Given the description of an element on the screen output the (x, y) to click on. 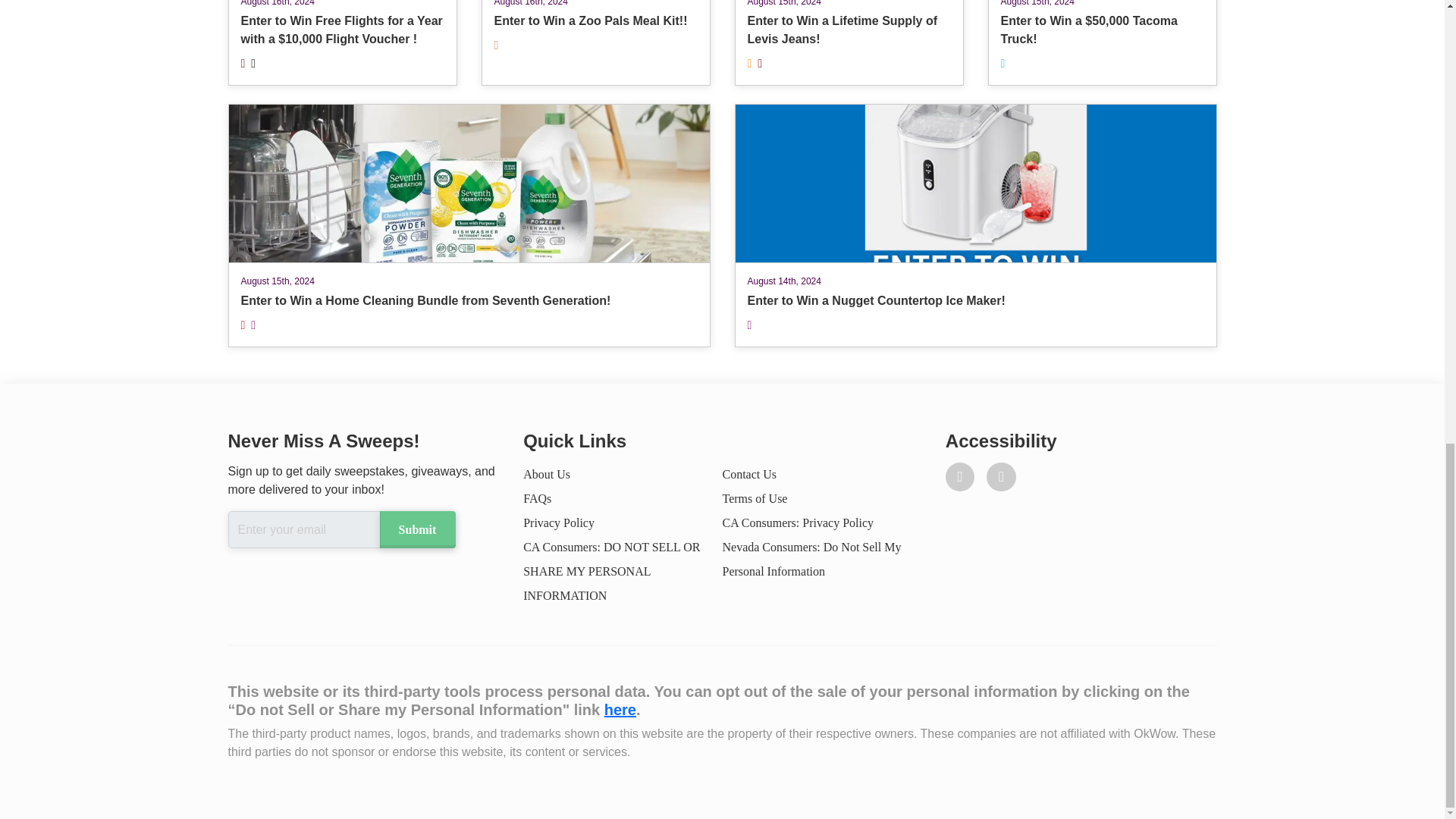
FAQs (536, 498)
About Us (546, 473)
CA Consumers: Privacy Policy (797, 522)
Terms of Use (595, 42)
Contact Us (754, 498)
Privacy Policy (749, 473)
